Given the description of an element on the screen output the (x, y) to click on. 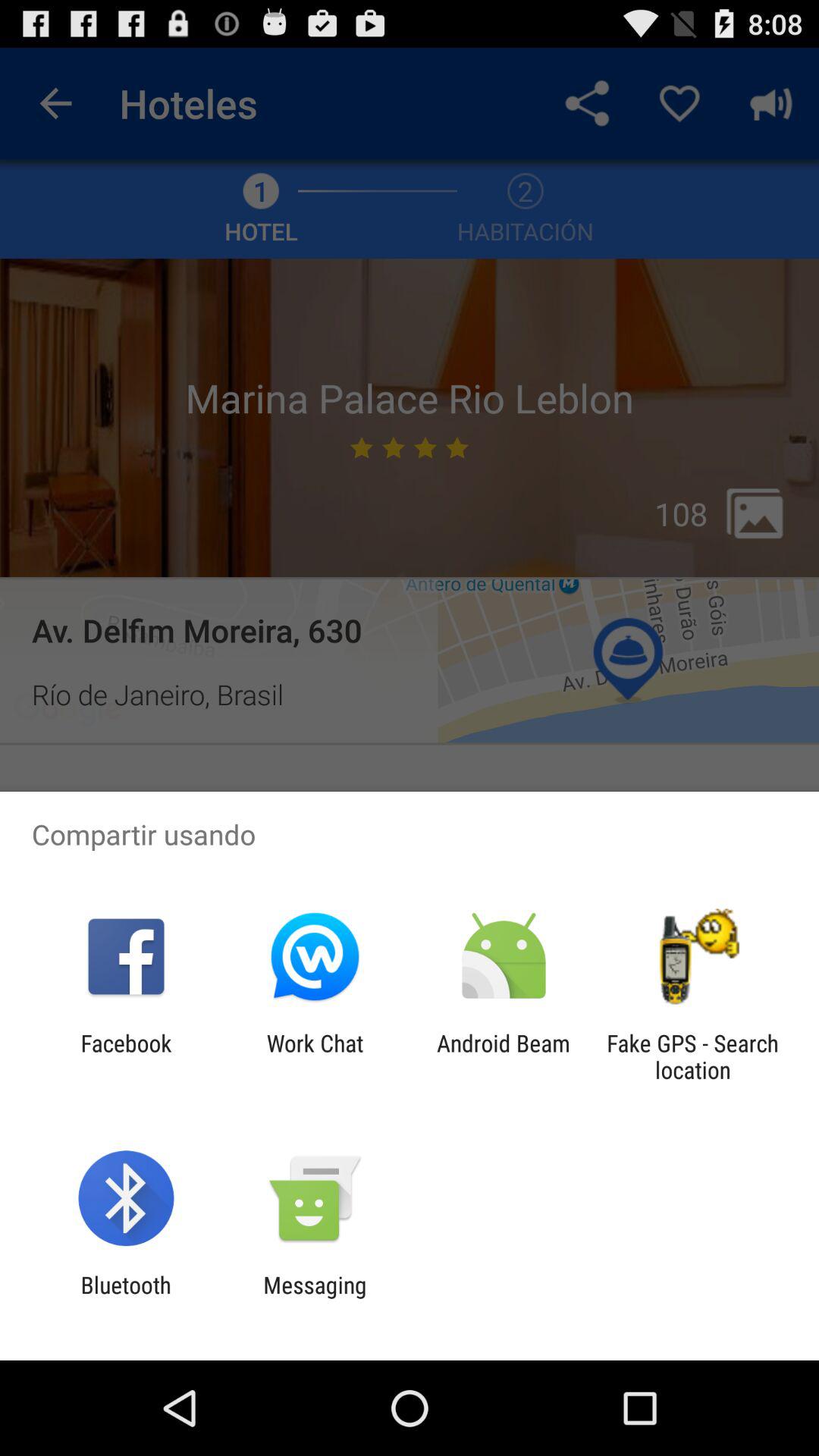
press work chat icon (314, 1056)
